Given the description of an element on the screen output the (x, y) to click on. 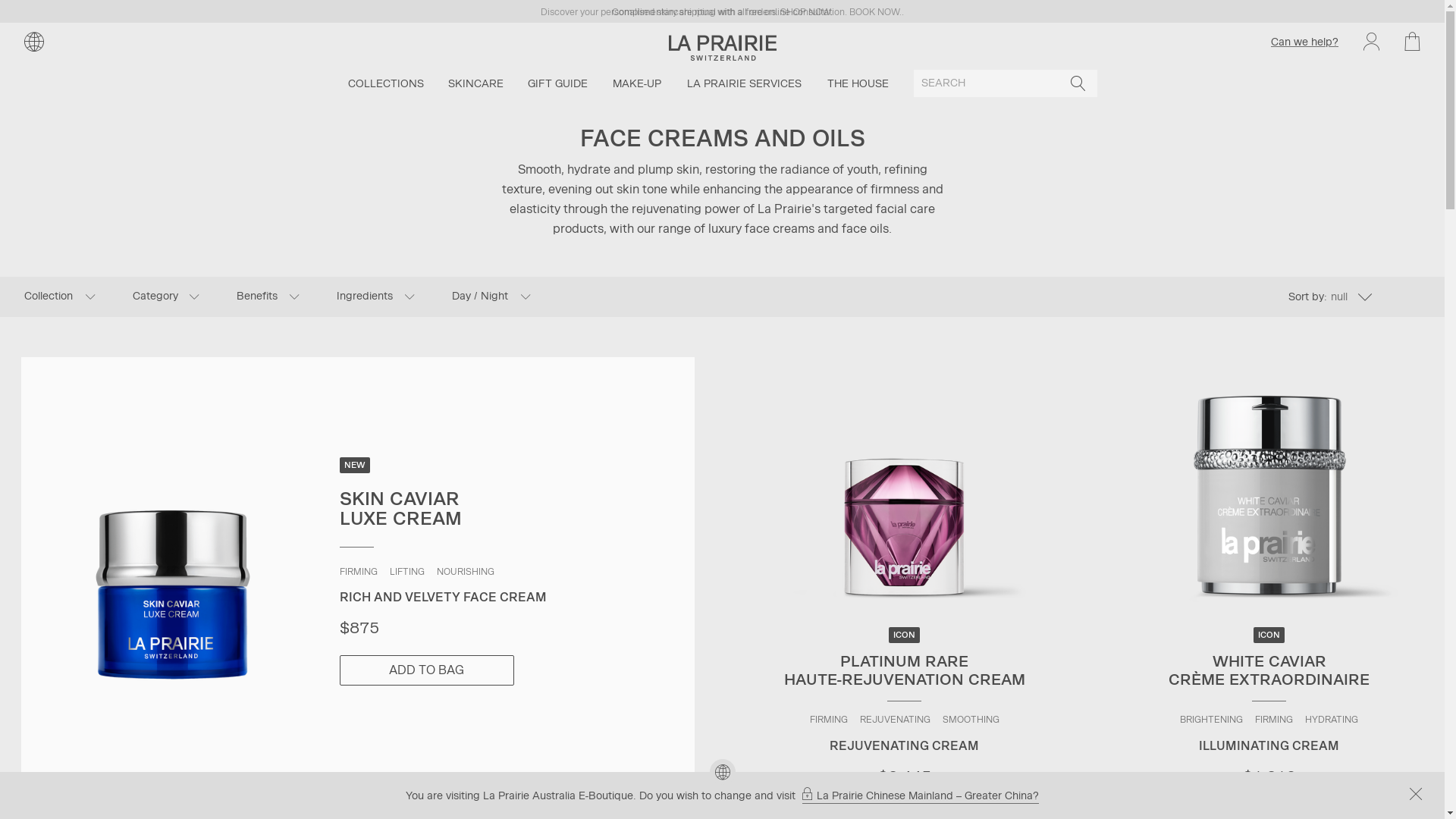
HAUTE-REJUVENATION CREAM Element type: hover (904, 488)
ADD TO BAG Element type: text (426, 670)
GIFT GUIDE Element type: text (557, 83)
La Prairie Group Australia Pty Ltd Element type: hover (722, 41)
Can we help? Element type: text (1304, 40)
